Given the description of an element on the screen output the (x, y) to click on. 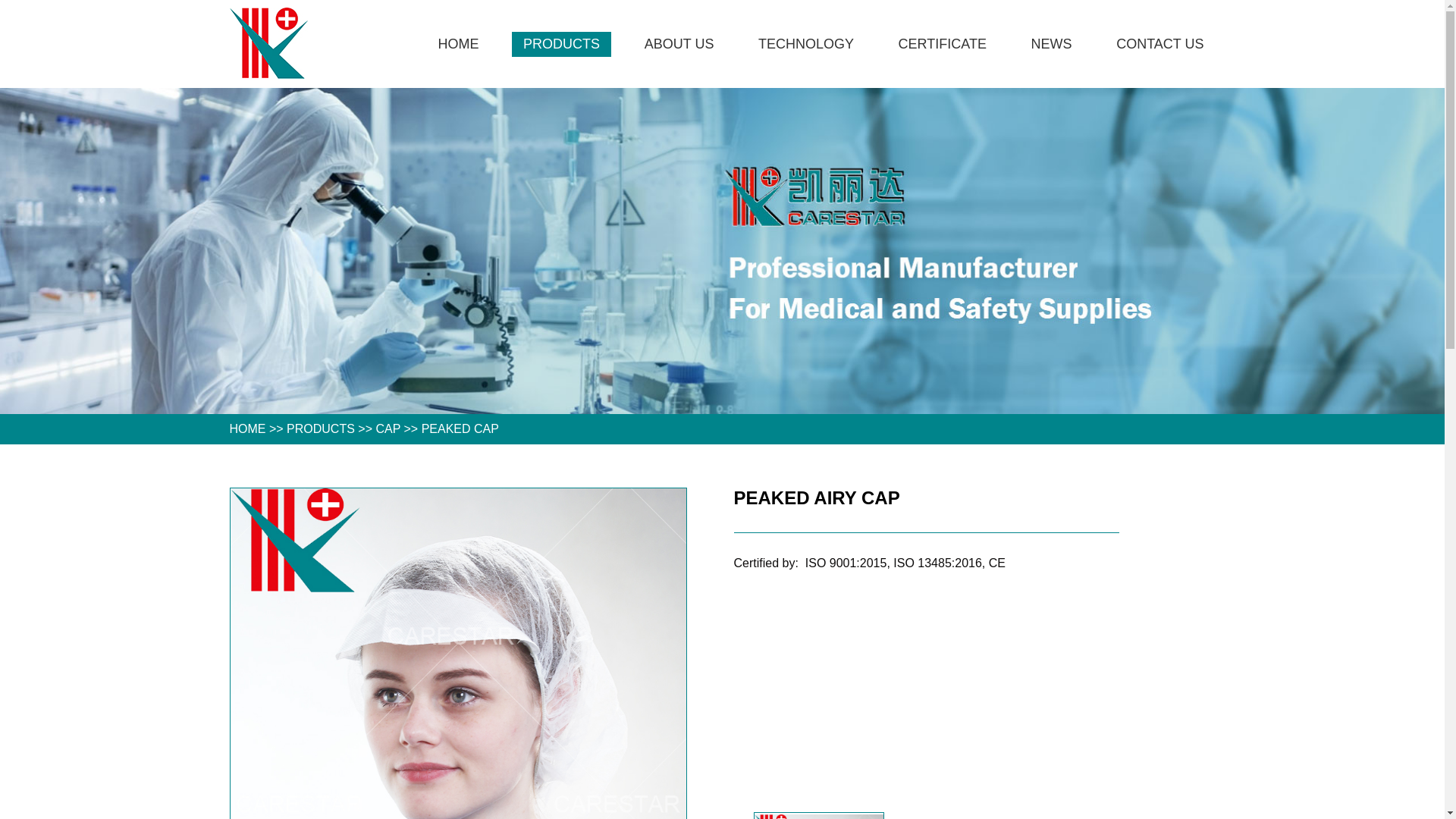
PRODUCTS Element type: text (320, 428)
HOME Element type: text (457, 43)
TECHNOLOGY Element type: text (805, 43)
PRODUCTS Element type: text (561, 43)
NEWS Element type: text (1051, 43)
HOME Element type: text (247, 428)
CERTIFICATE Element type: text (942, 43)
CONTACT US Element type: text (1159, 43)
CAP Element type: text (387, 428)
ABOUT US Element type: text (679, 43)
PEAKED CAP Element type: text (459, 428)
